Given the description of an element on the screen output the (x, y) to click on. 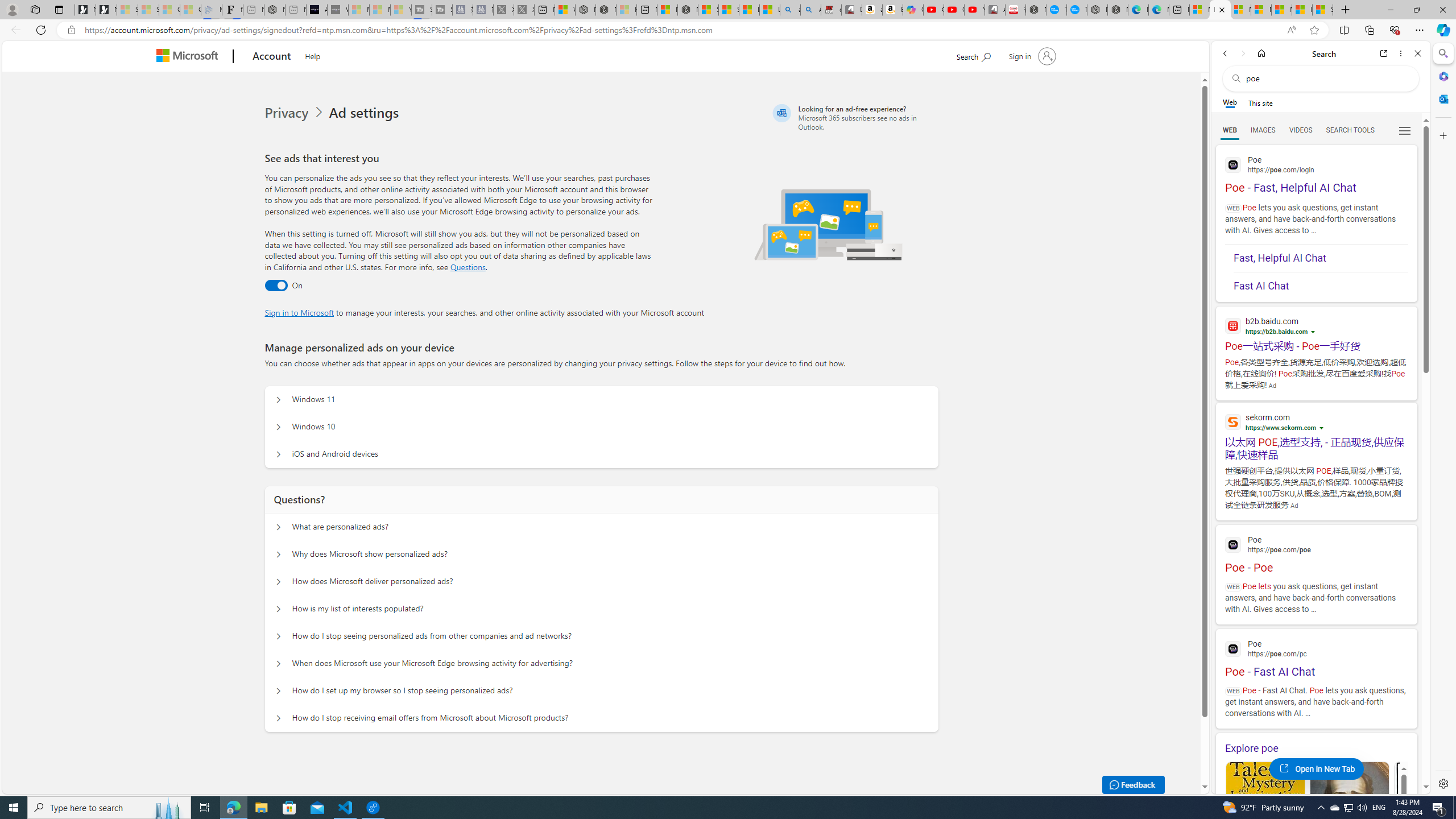
amazon.in/dp/B0CX59H5W7/?tag=gsmcom05-21 (871, 9)
Help (312, 54)
